Given the description of an element on the screen output the (x, y) to click on. 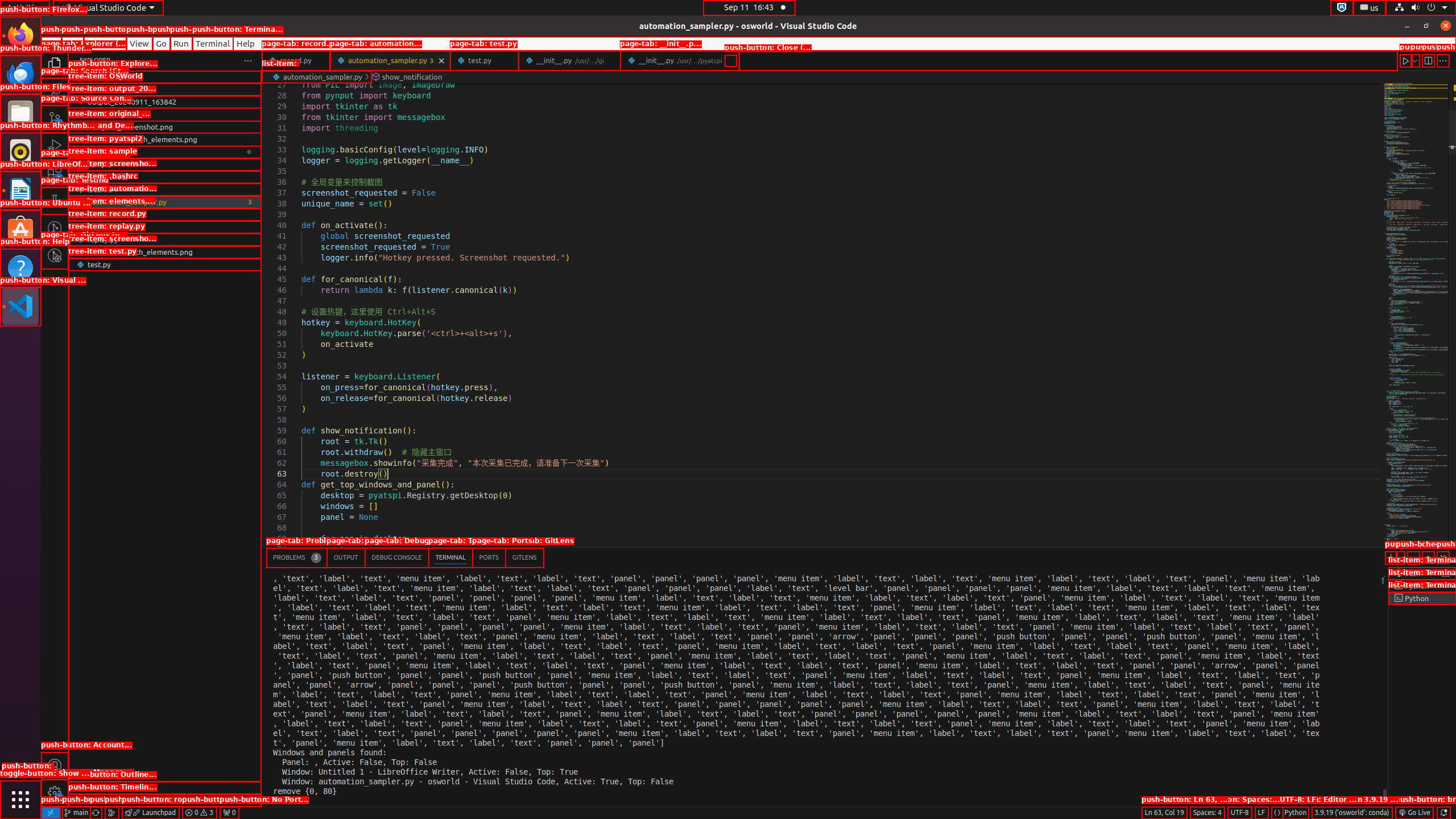
record.py Element type: page-tab (295, 60)
3.9.19 ('osworld': conda), ~/anaconda3/envs/osworld/bin/python Element type: push-button (1351, 812)
Active View Switcher Element type: page-tab-list (404, 557)
Search (Ctrl+Shift+F) Element type: page-tab (54, 91)
